Given the description of an element on the screen output the (x, y) to click on. 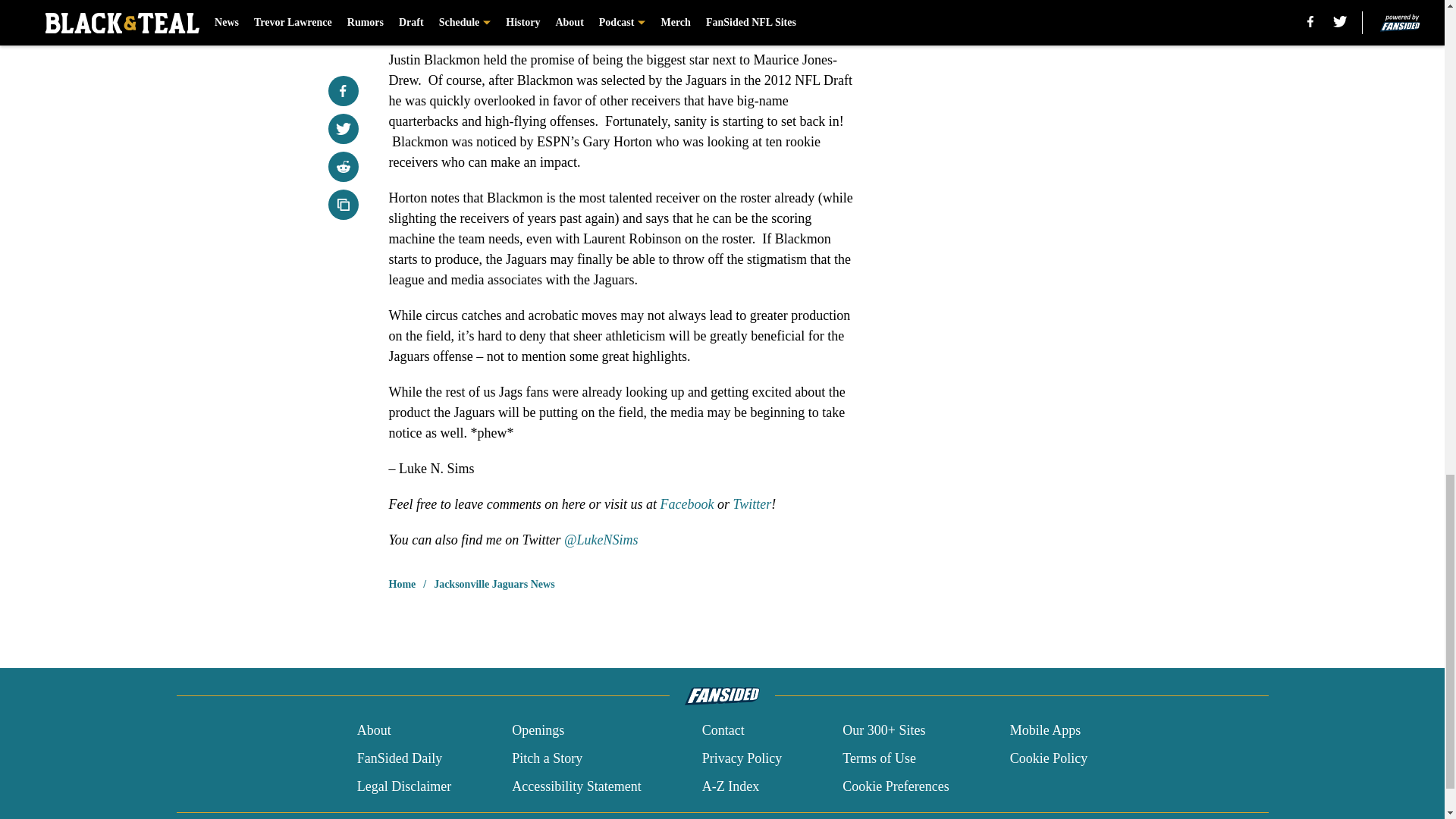
Facebook (687, 503)
Accessibility Statement (576, 786)
A-Z Index (729, 786)
Legal Disclaimer (403, 786)
Mobile Apps (1045, 730)
About (373, 730)
Twitter (752, 503)
FanSided Daily (399, 758)
Contact (722, 730)
Pitch a Story (547, 758)
